Given the description of an element on the screen output the (x, y) to click on. 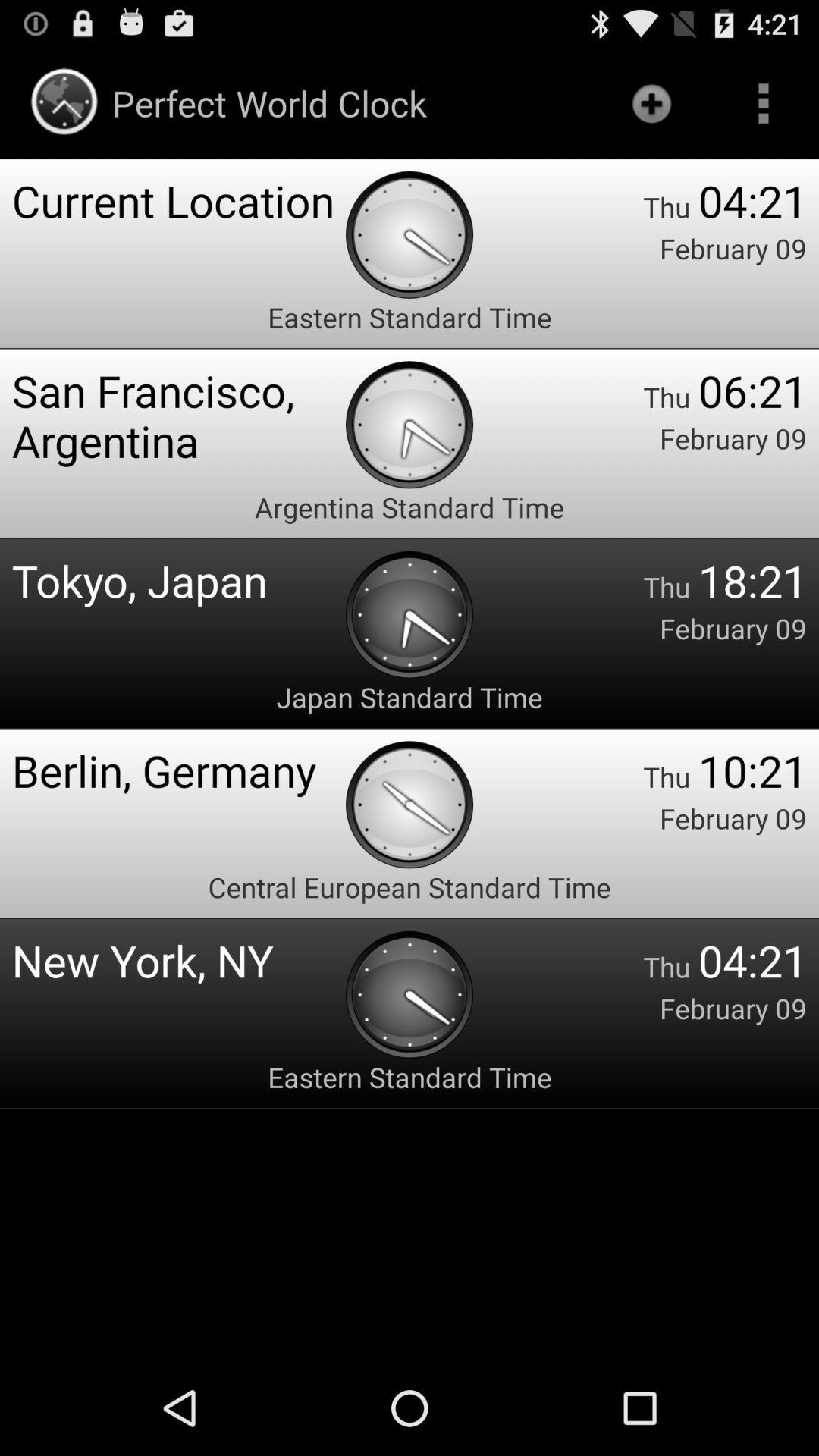
tap the berlin, germany icon (178, 770)
